Given the description of an element on the screen output the (x, y) to click on. 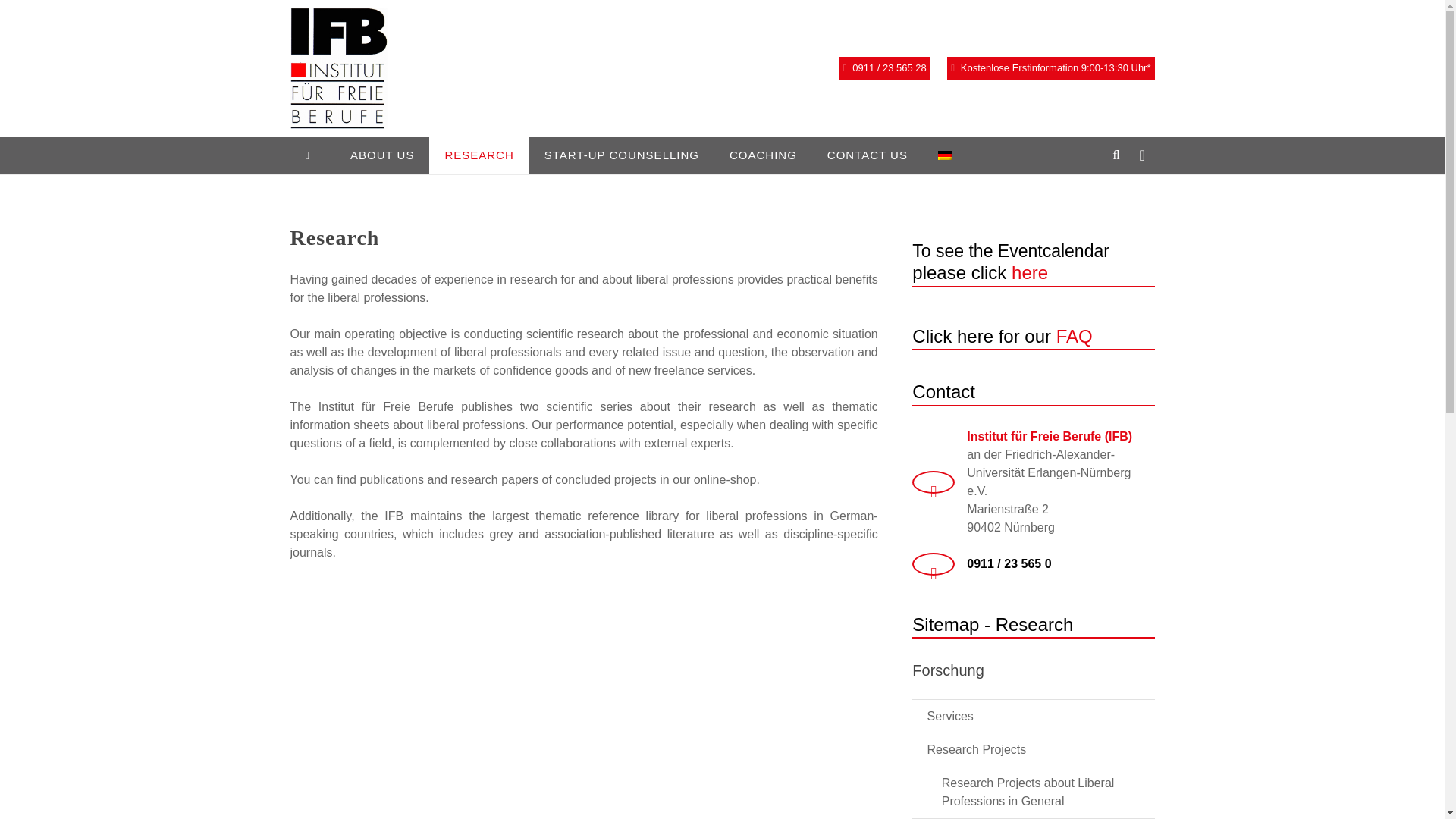
RESEARCH (478, 155)
ABOUT US (381, 155)
COACHING (763, 155)
START-UP COUNSELLING (621, 155)
